Given the description of an element on the screen output the (x, y) to click on. 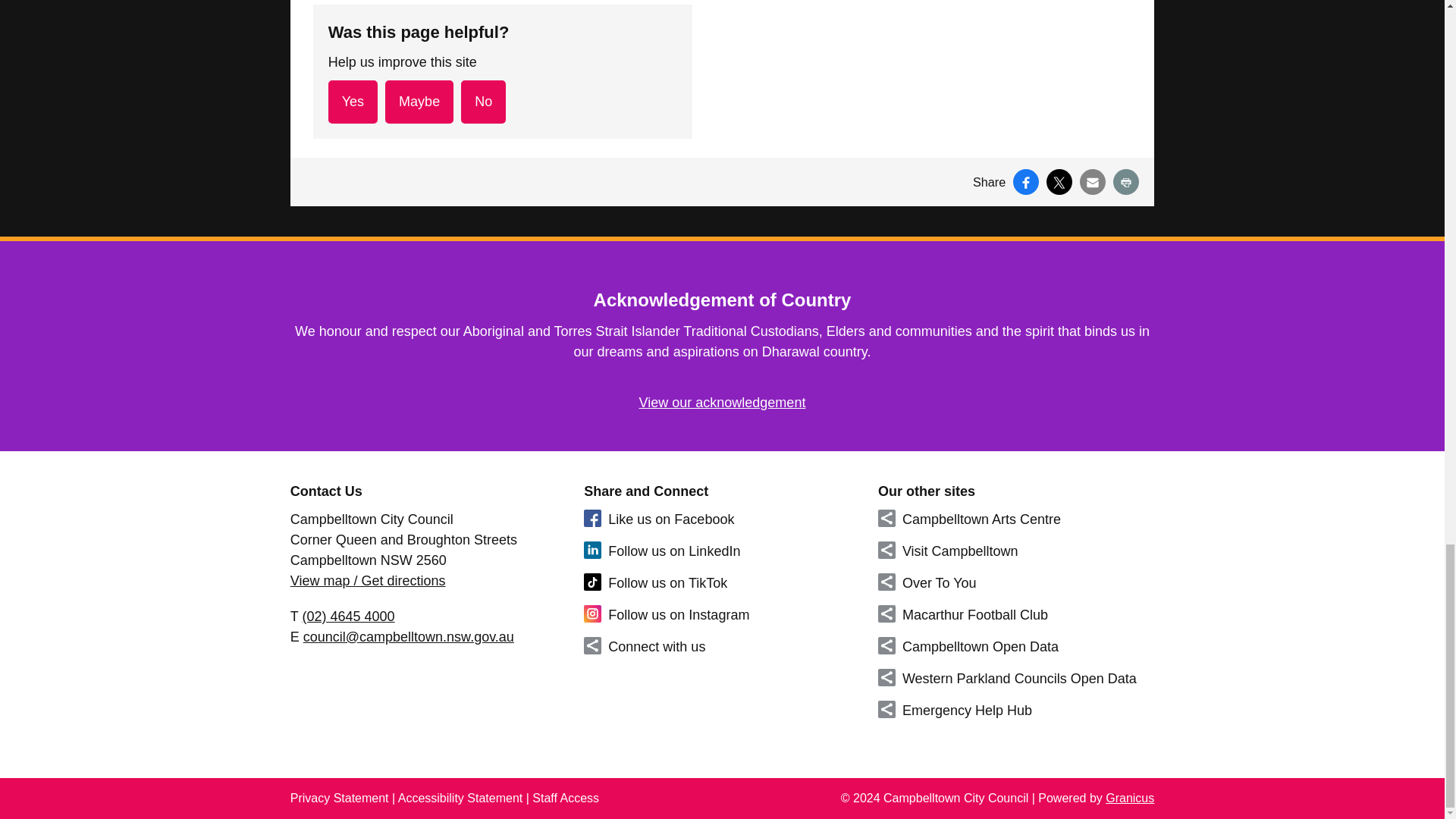
No (483, 101)
Yes, this page was helpful (353, 101)
Maybe (418, 101)
Yes (353, 101)
No, this page was not helpful (483, 101)
